Given the description of an element on the screen output the (x, y) to click on. 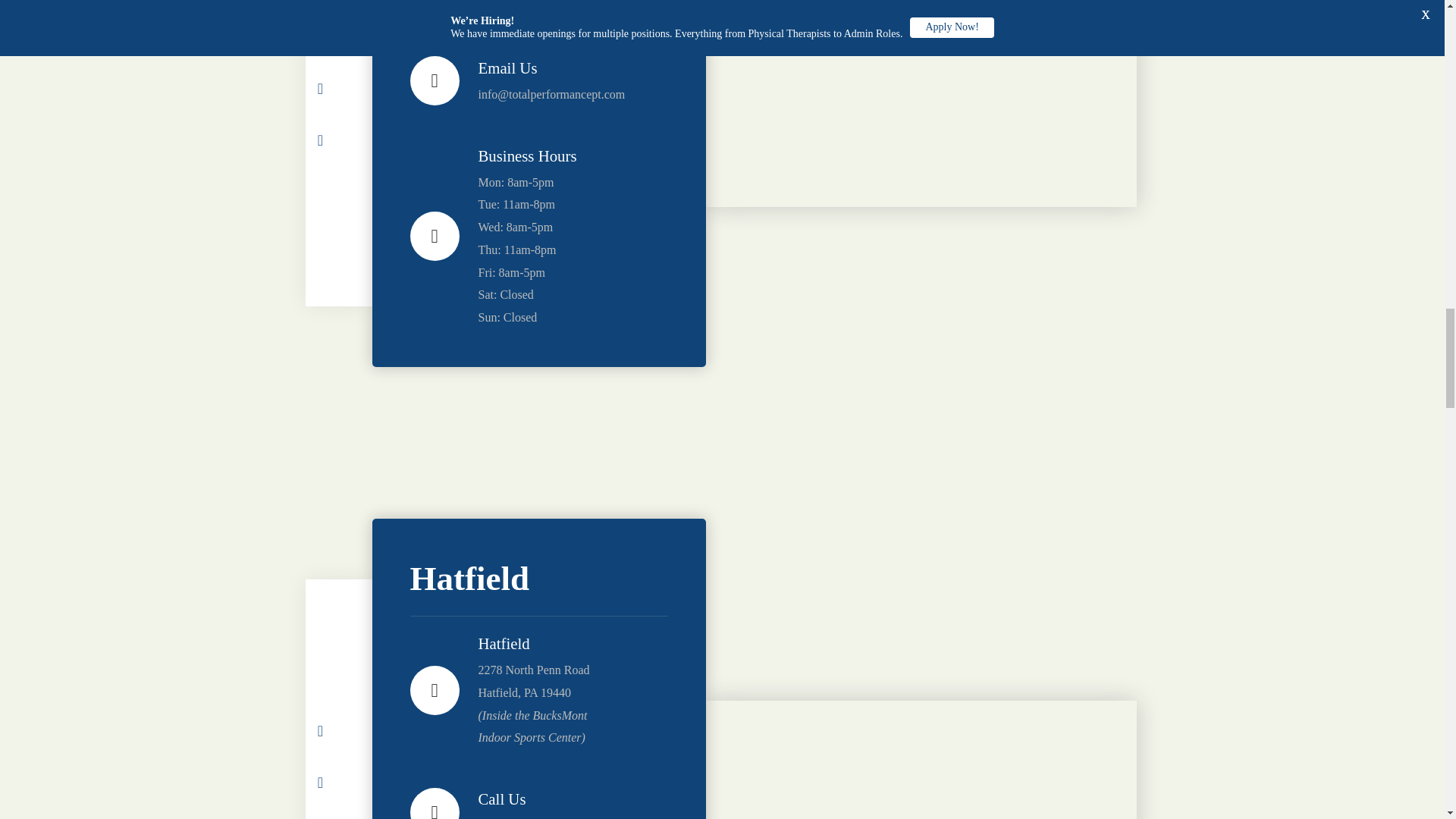
2278 N Penn Rd, Hatfield, PA 19440, United States (919, 760)
1547 DeKalb St, Norristown, PA 19401, United States (919, 103)
Twitter (338, 14)
Instagram (338, 106)
Youtube (338, 55)
